Given the description of an element on the screen output the (x, y) to click on. 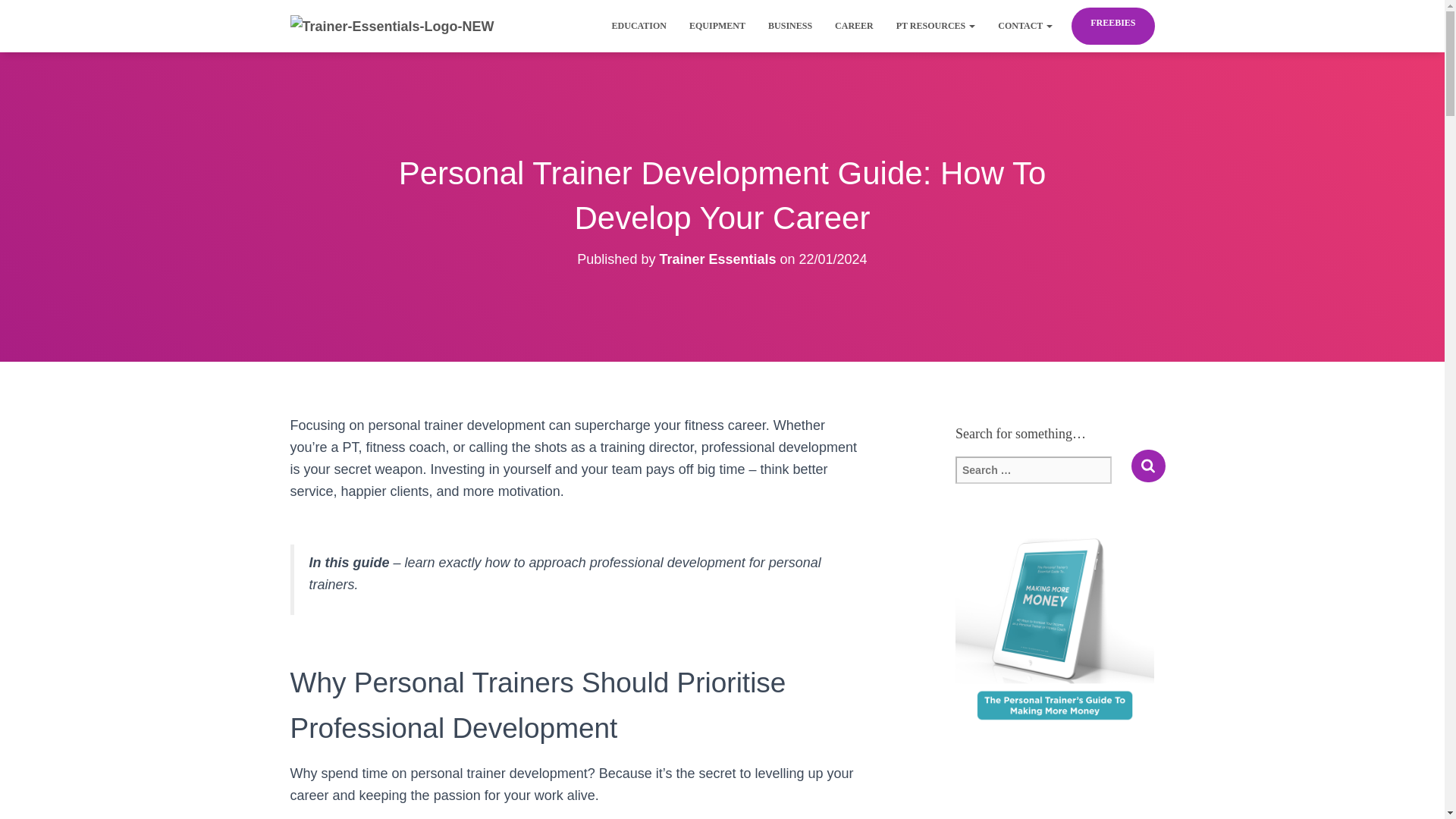
Search (1148, 465)
FREEBIES (1112, 22)
BUSINESS (790, 26)
EQUIPMENT (717, 26)
Business (790, 26)
Equipment (717, 26)
Contact (1025, 26)
Trainer Essentials (392, 26)
Search (1148, 465)
Search (1148, 465)
